Given the description of an element on the screen output the (x, y) to click on. 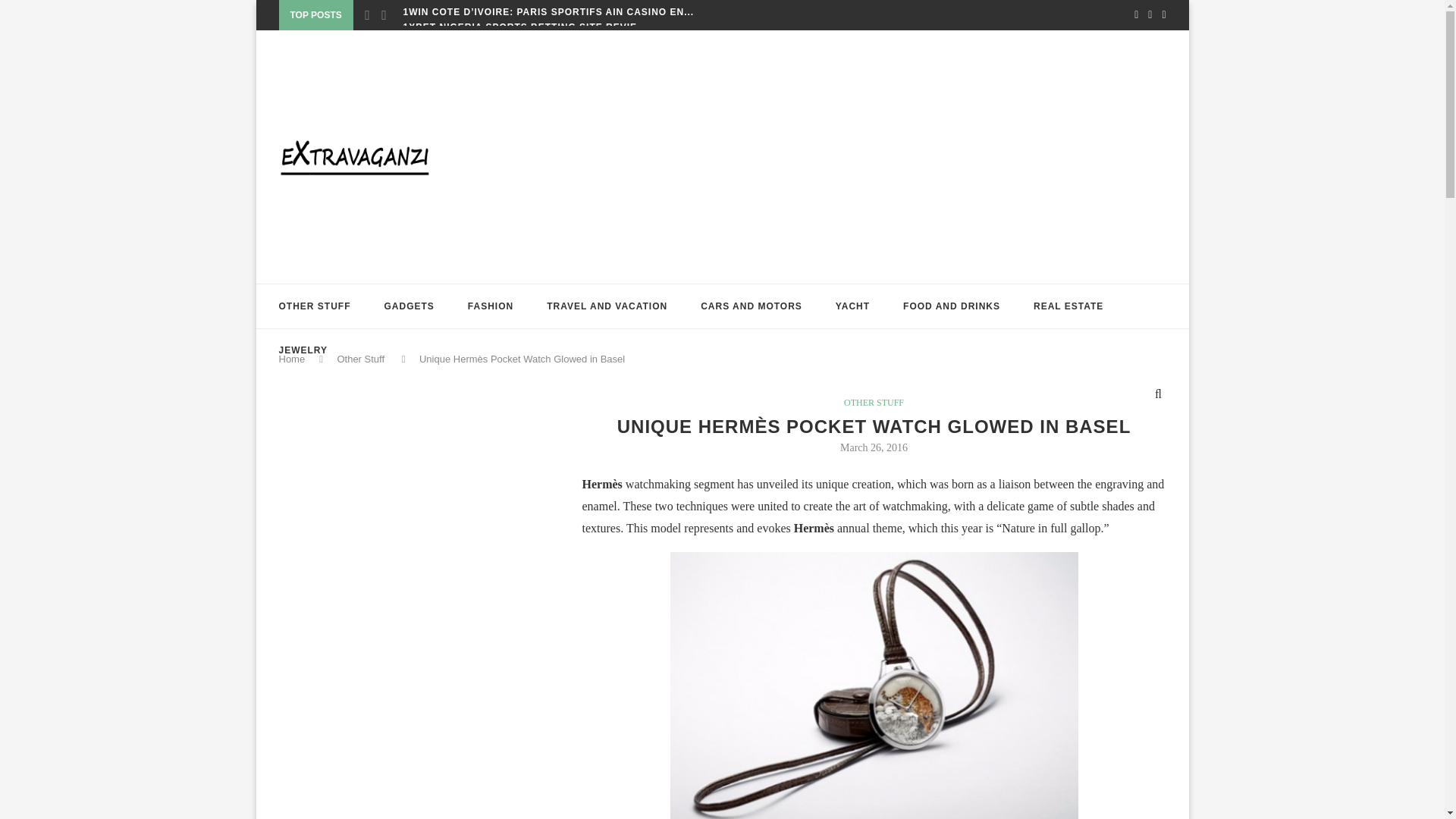
FASHION (490, 306)
REAL ESTATE (1068, 306)
1XBET NIGERIA SPORTS BETTING SITE REVIE (520, 27)
TRAVEL AND VACATION (606, 306)
CARS AND MOTORS (751, 306)
Advertisement (392, 538)
GADGETS (408, 306)
FOOD AND DRINKS (951, 306)
OTHER STUFF (314, 306)
View all posts in Other Stuff (874, 402)
